Given the description of an element on the screen output the (x, y) to click on. 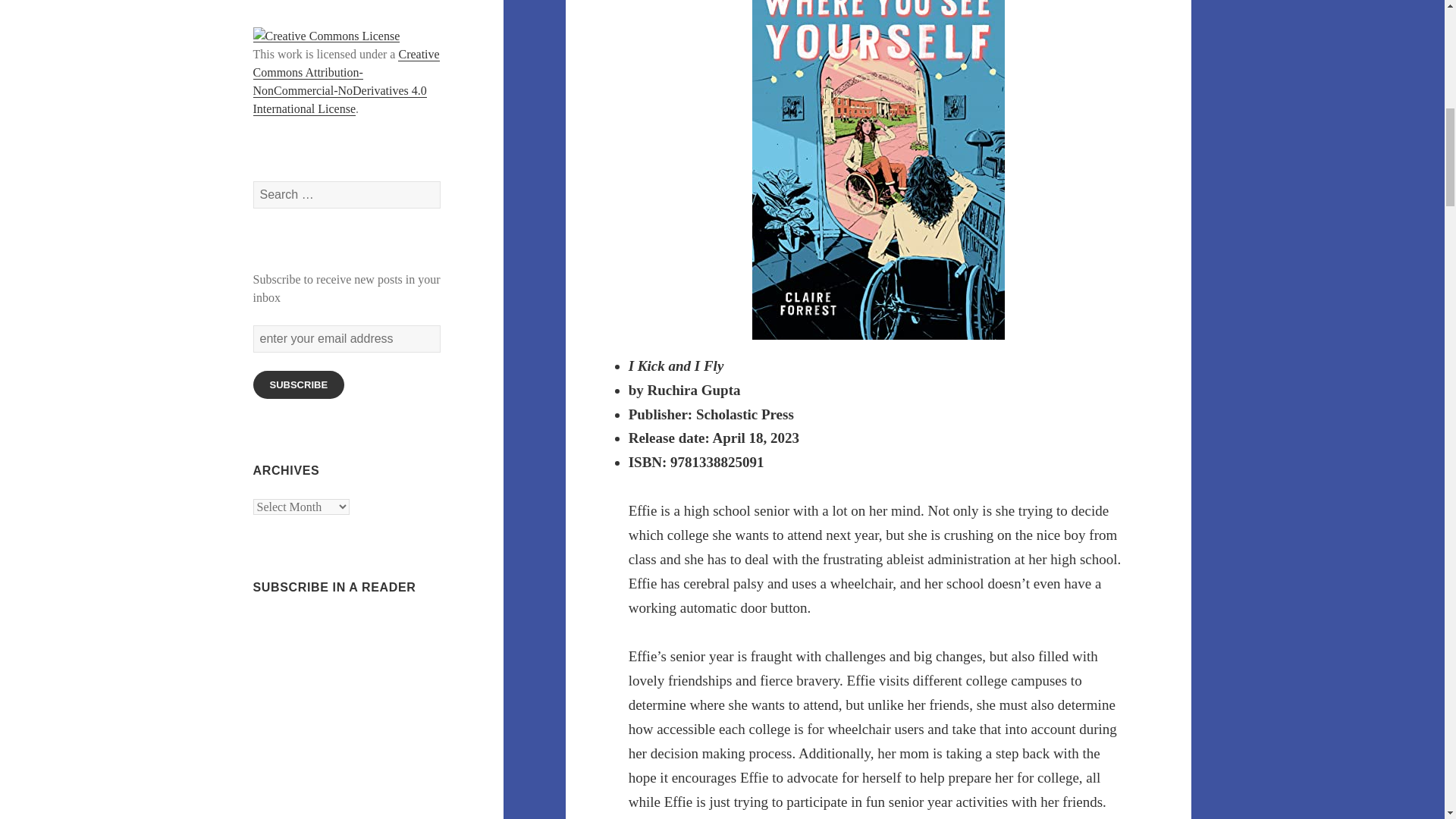
SUBSCRIBE (299, 384)
